Given the description of an element on the screen output the (x, y) to click on. 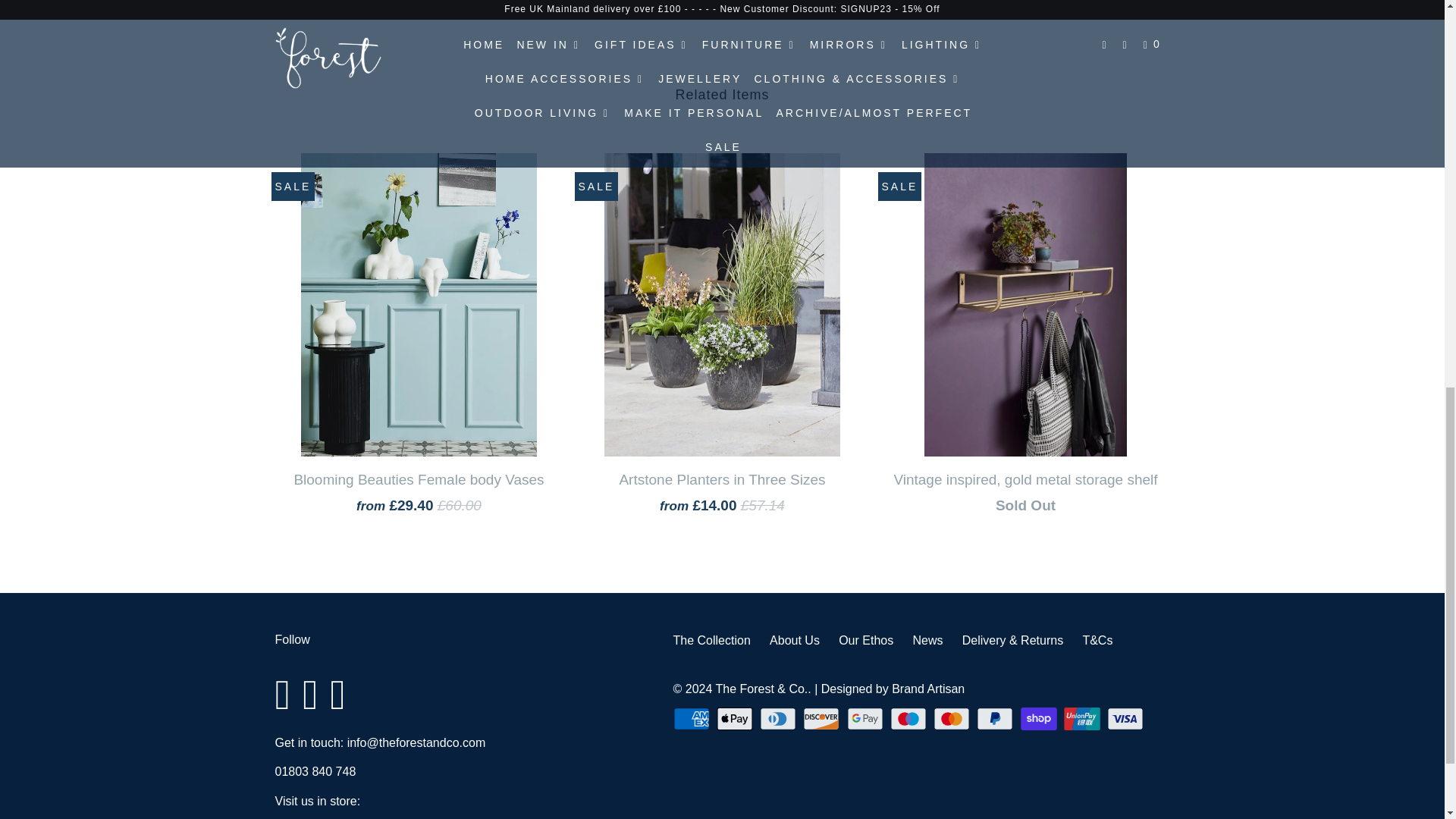
Mastercard (952, 718)
Maestro (909, 718)
Discover (823, 718)
PayPal (996, 718)
Apple Pay (735, 718)
Google Pay (866, 718)
American Express (692, 718)
Shop Pay (1039, 718)
Union Pay (1083, 718)
Visa (1126, 718)
Diners Club (779, 718)
